Given the description of an element on the screen output the (x, y) to click on. 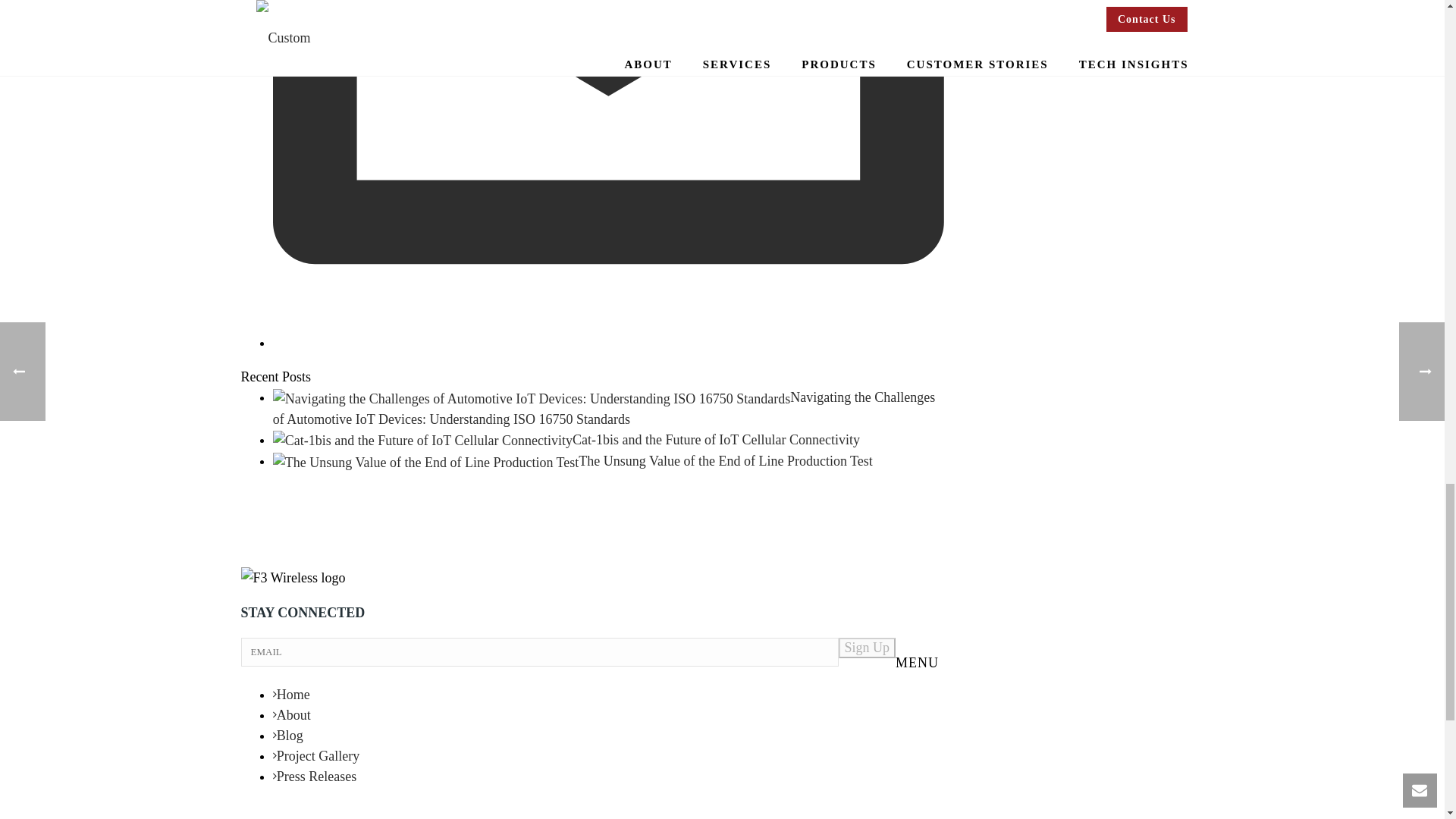
The Unsung Value of the End of Line Production Test (426, 460)
Sign Up (867, 648)
Get in touch with me via email (608, 342)
Cat-1bis and the Future of IoT Cellular Connectivity (422, 439)
